Given the description of an element on the screen output the (x, y) to click on. 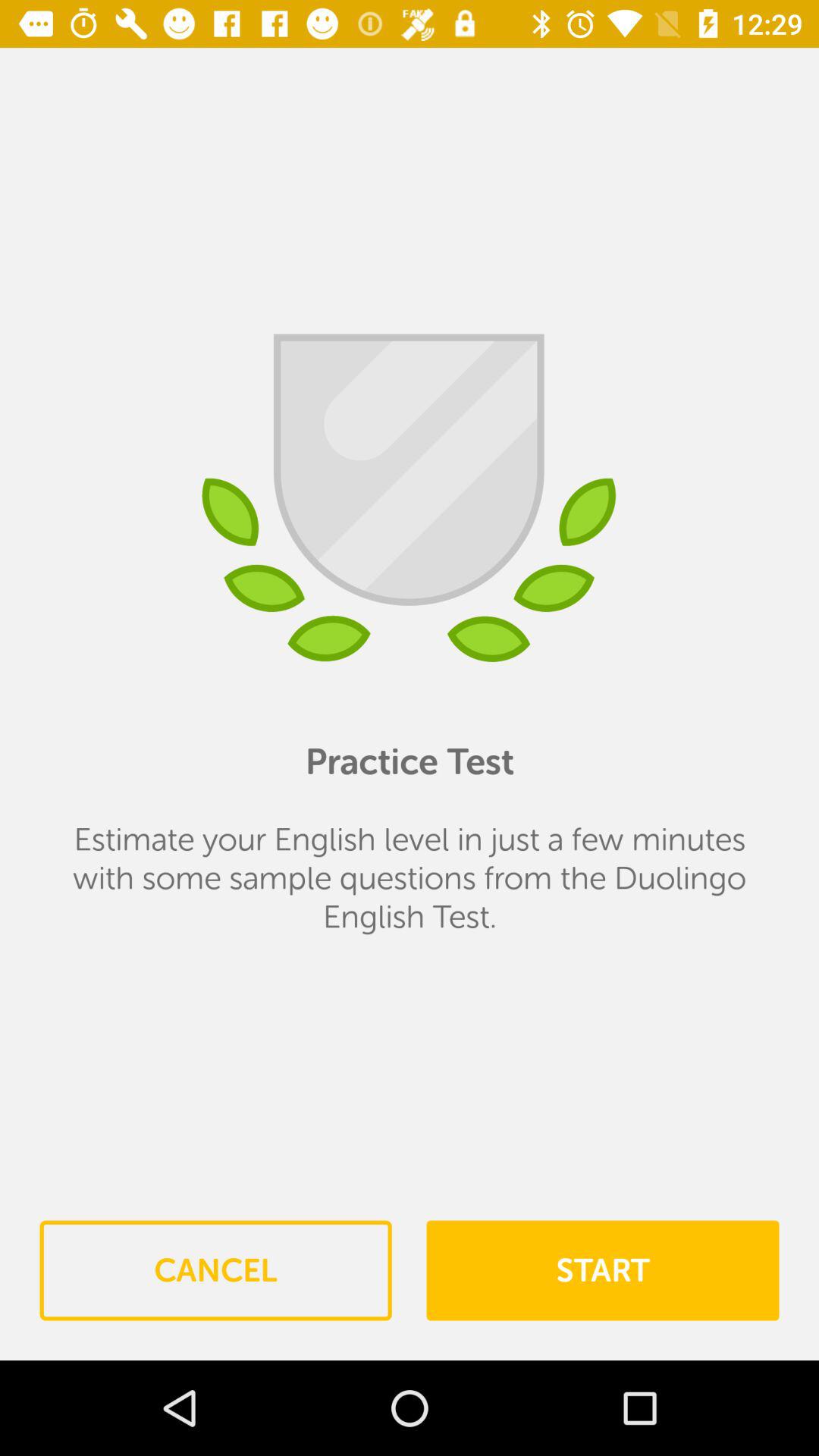
choose the start at the bottom right corner (602, 1270)
